Given the description of an element on the screen output the (x, y) to click on. 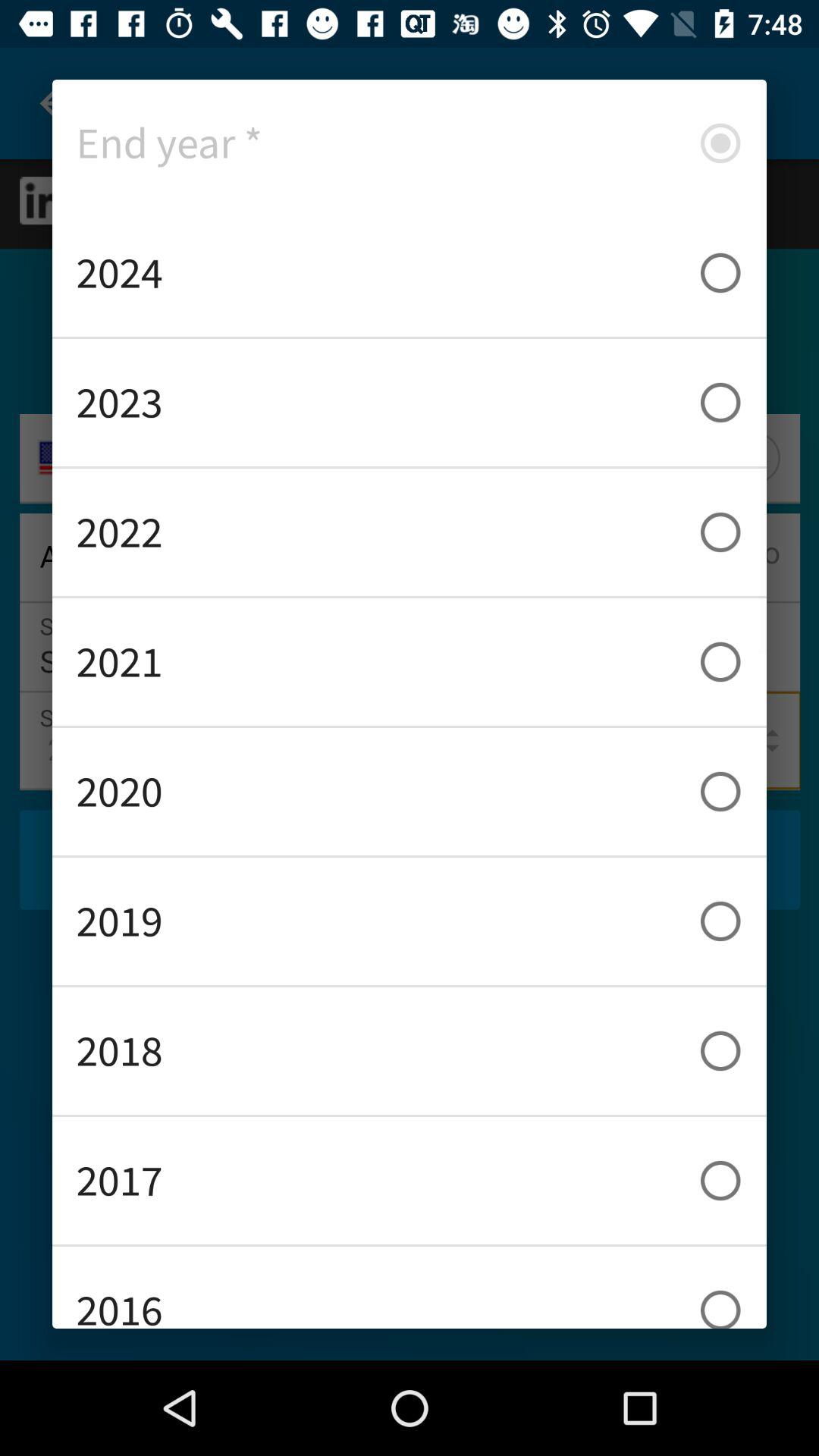
choose the end year * icon (409, 143)
